Given the description of an element on the screen output the (x, y) to click on. 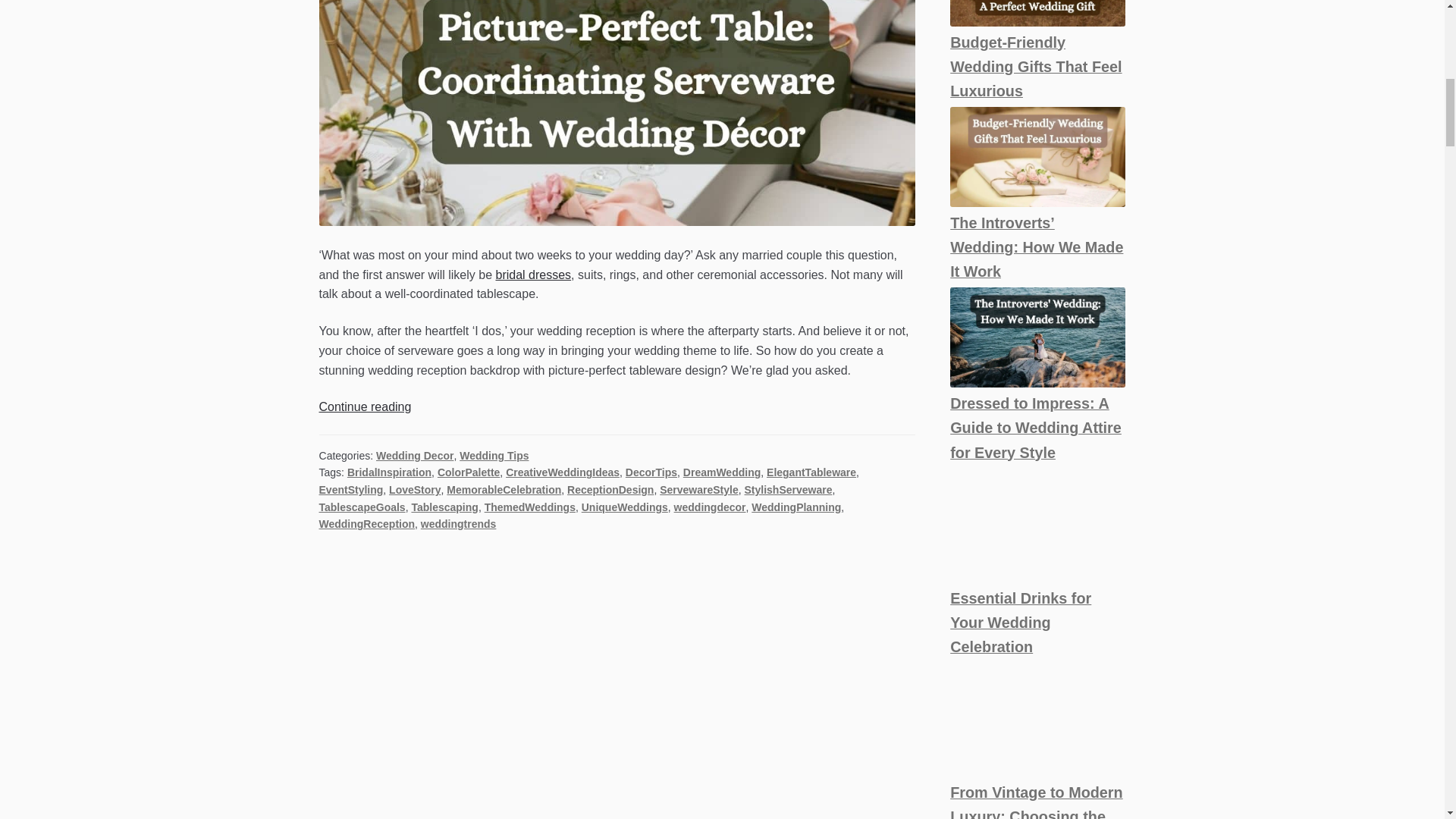
Essential Drinks for Your Wedding Celebration (1037, 719)
Budget-Friendly Wedding Gifts That Feel Luxurious (1037, 157)
Traditional Irish Jewelry Is A Perfect Wedding Gift (1037, 12)
